Given the description of an element on the screen output the (x, y) to click on. 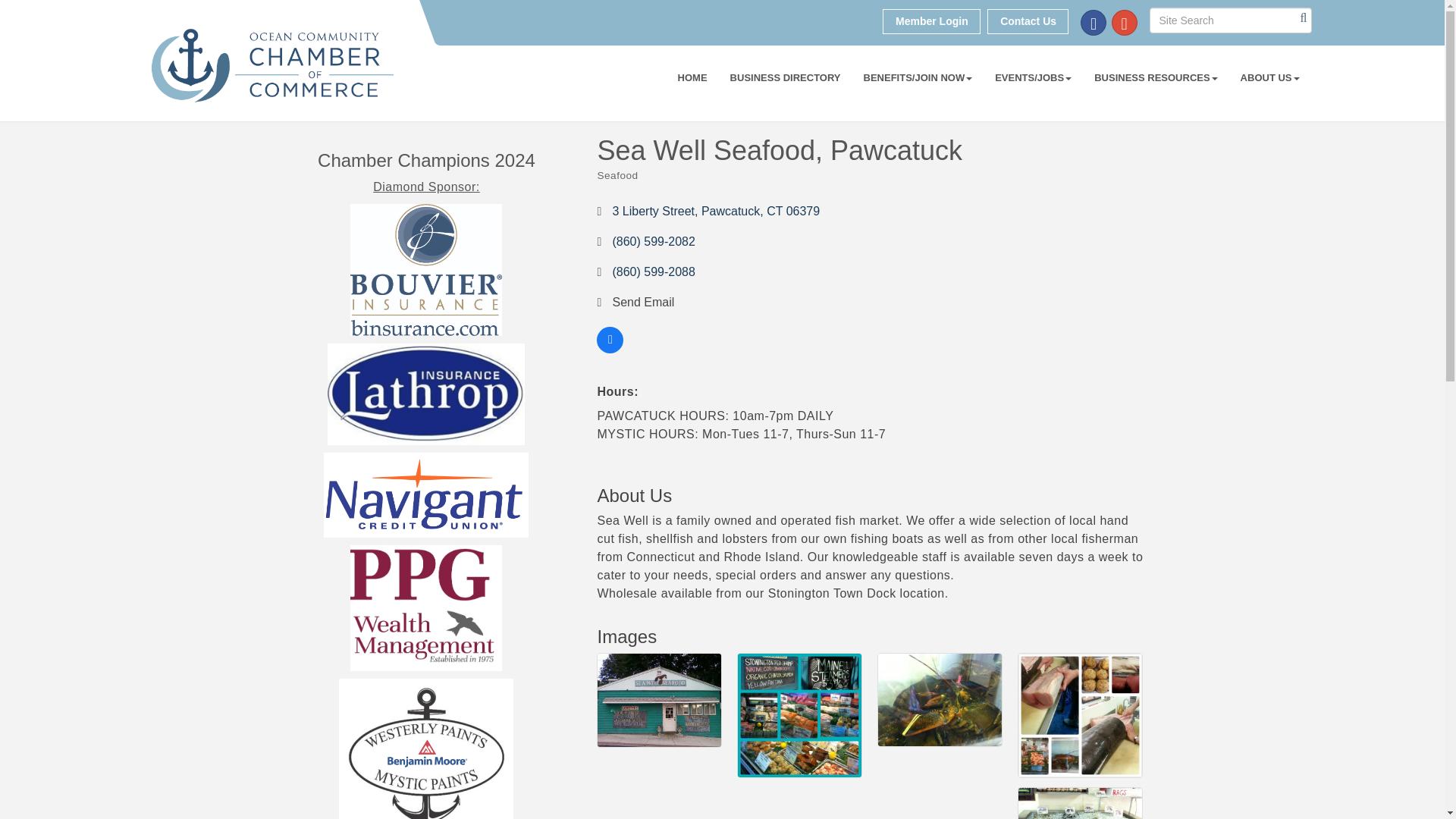
Contact Us (1027, 21)
Icon Link (1124, 22)
ABOUT US (1269, 77)
BUSINESS DIRECTORY (785, 77)
HOME (692, 77)
View on Facebook (609, 349)
Member Login (930, 21)
Icon Link (1093, 22)
BUSINESS RESOURCES (1155, 77)
